Given the description of an element on the screen output the (x, y) to click on. 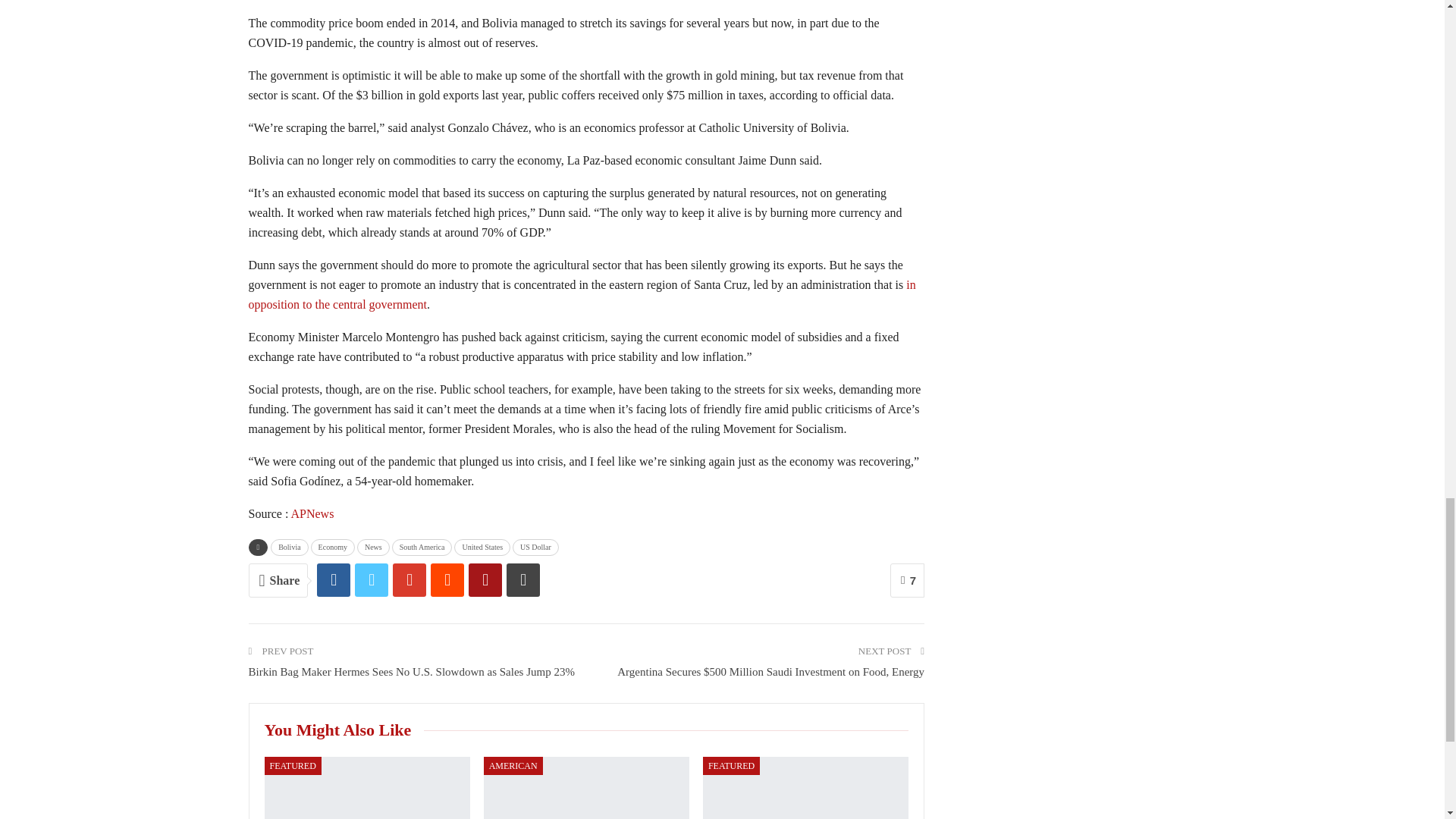
What Might a Harris Foreign Policy Bring? (585, 787)
